Given the description of an element on the screen output the (x, y) to click on. 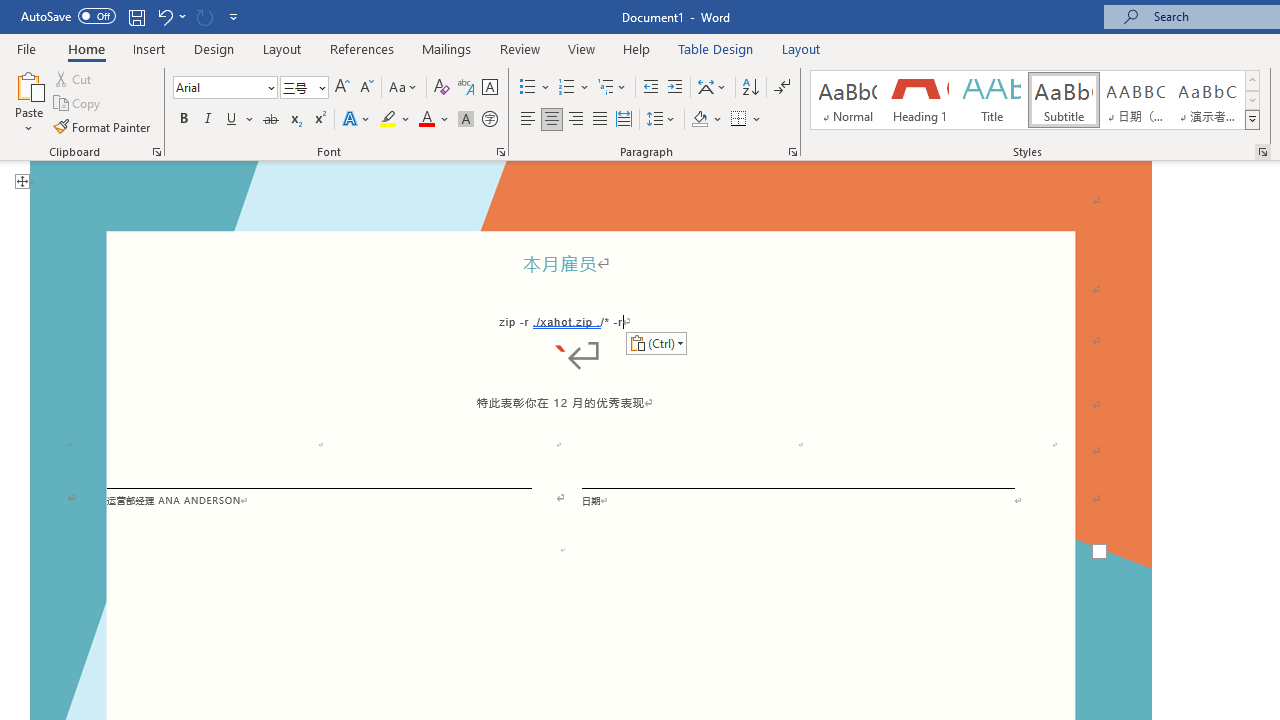
Heading 1 (920, 100)
